Given the description of an element on the screen output the (x, y) to click on. 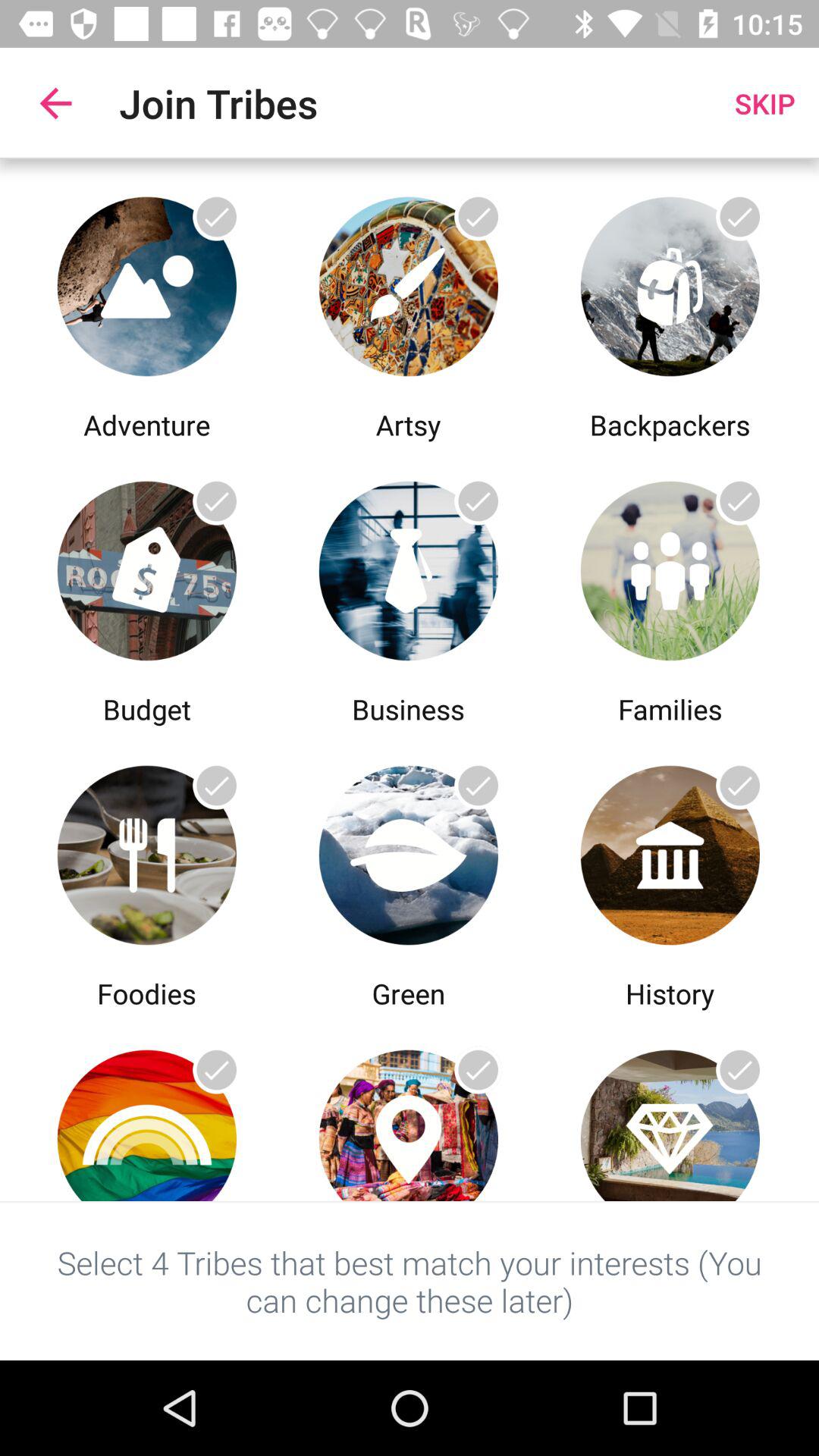
adventure image selection (146, 282)
